Given the description of an element on the screen output the (x, y) to click on. 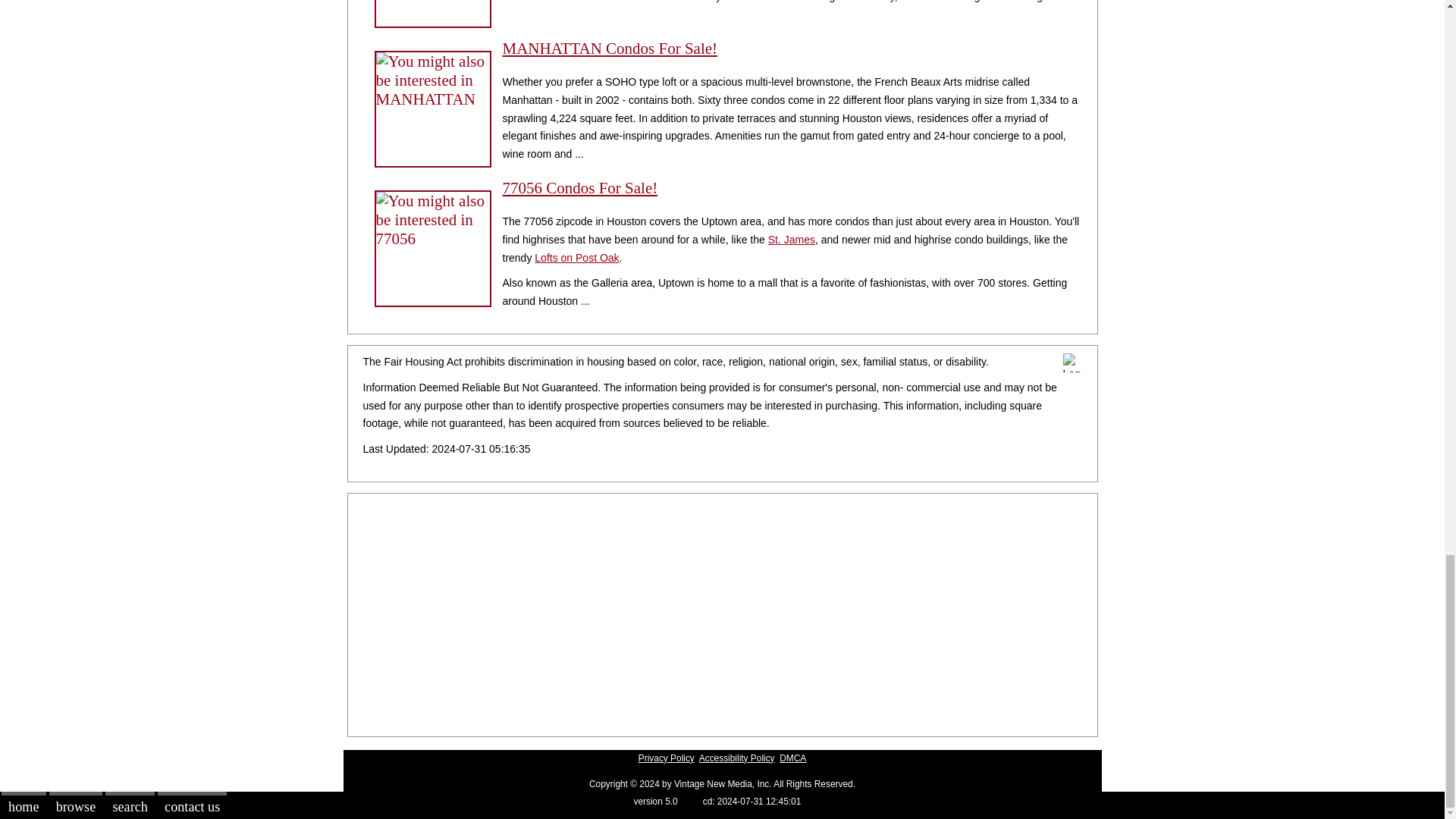
St. James (791, 239)
Privacy Policy (666, 757)
Accessibility Policy (736, 757)
DMCA (792, 757)
77056 Condos For Sale! (580, 188)
MANHATTAN Condos For Sale! (609, 48)
Lofts on Post Oak (576, 257)
